Given the description of an element on the screen output the (x, y) to click on. 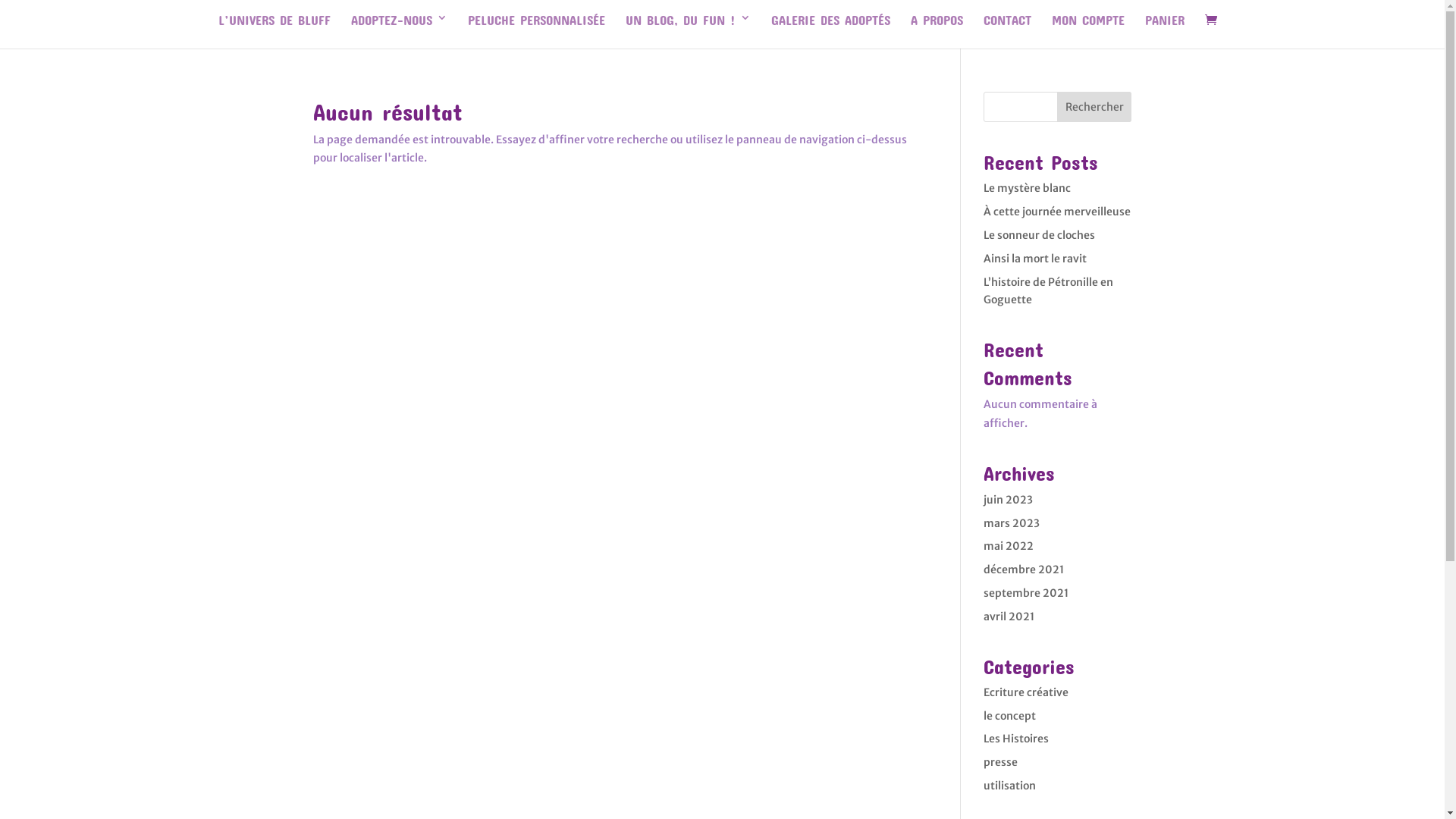
MON COMPTE Element type: text (1087, 30)
UN BLOG, DU FUN ! Element type: text (687, 30)
CONTACT Element type: text (1007, 30)
PANIER Element type: text (1164, 30)
utilisation Element type: text (1009, 785)
avril 2021 Element type: text (1008, 616)
Les Histoires Element type: text (1015, 738)
septembre 2021 Element type: text (1025, 592)
juin 2023 Element type: text (1007, 499)
Rechercher Element type: text (1094, 106)
Le sonneur de cloches Element type: text (1039, 234)
le concept Element type: text (1009, 715)
mai 2022 Element type: text (1008, 545)
Ainsi la mort le ravit Element type: text (1034, 258)
ADOPTEZ-NOUS Element type: text (399, 30)
presse Element type: text (1000, 761)
A PROPOS Element type: text (936, 30)
mars 2023 Element type: text (1011, 523)
